Given the description of an element on the screen output the (x, y) to click on. 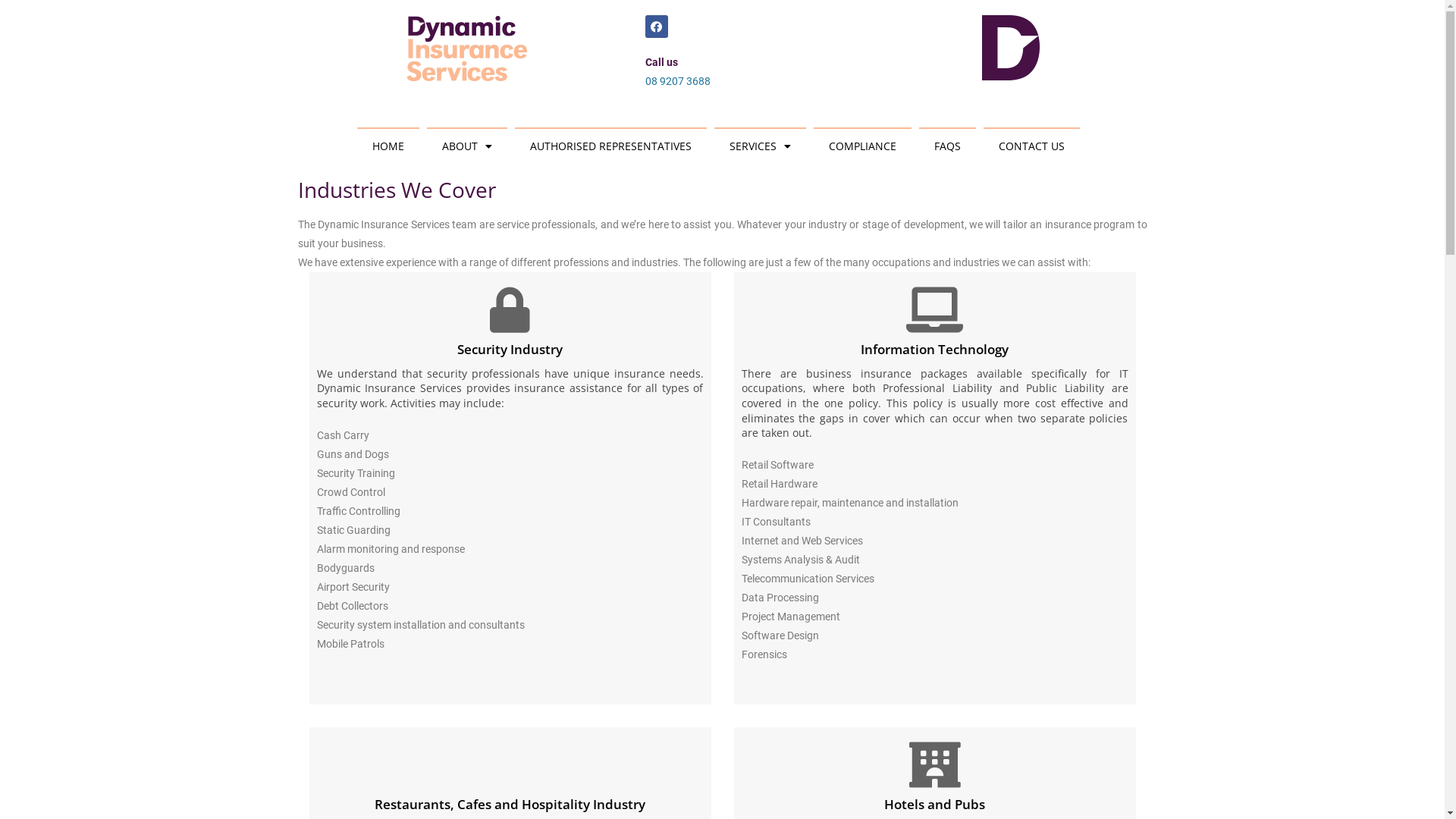
08 9207 3688 Element type: text (676, 81)
ABOUT Element type: text (466, 145)
COMPLIANCE Element type: text (862, 145)
AUTHORISED REPRESENTATIVES Element type: text (610, 145)
CONTACT US Element type: text (1031, 145)
HOME Element type: text (388, 145)
SERVICES Element type: text (760, 145)
FAQS Element type: text (947, 145)
